Given the description of an element on the screen output the (x, y) to click on. 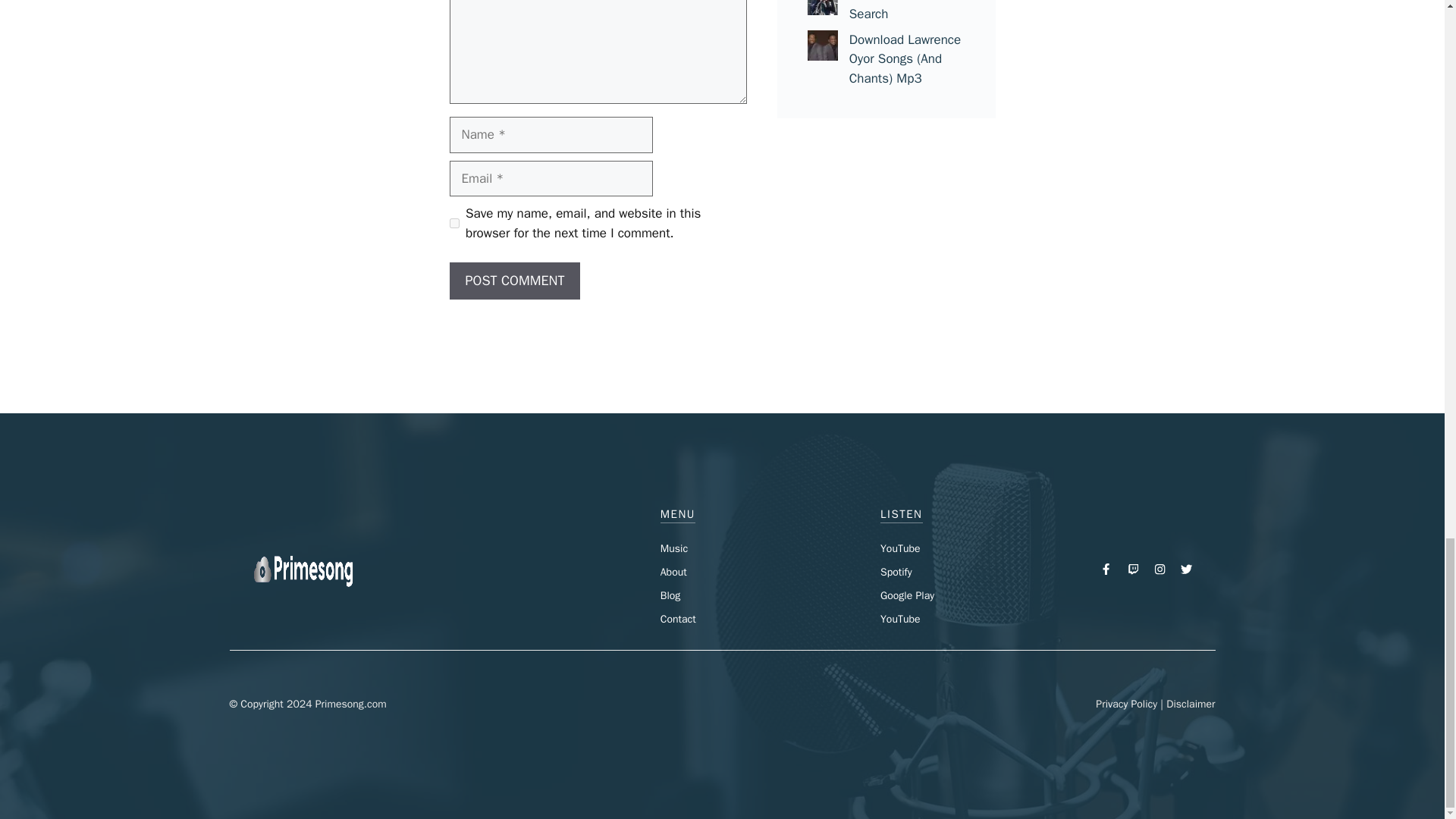
Post Comment (513, 280)
Post Comment (513, 280)
yes (453, 223)
